Given the description of an element on the screen output the (x, y) to click on. 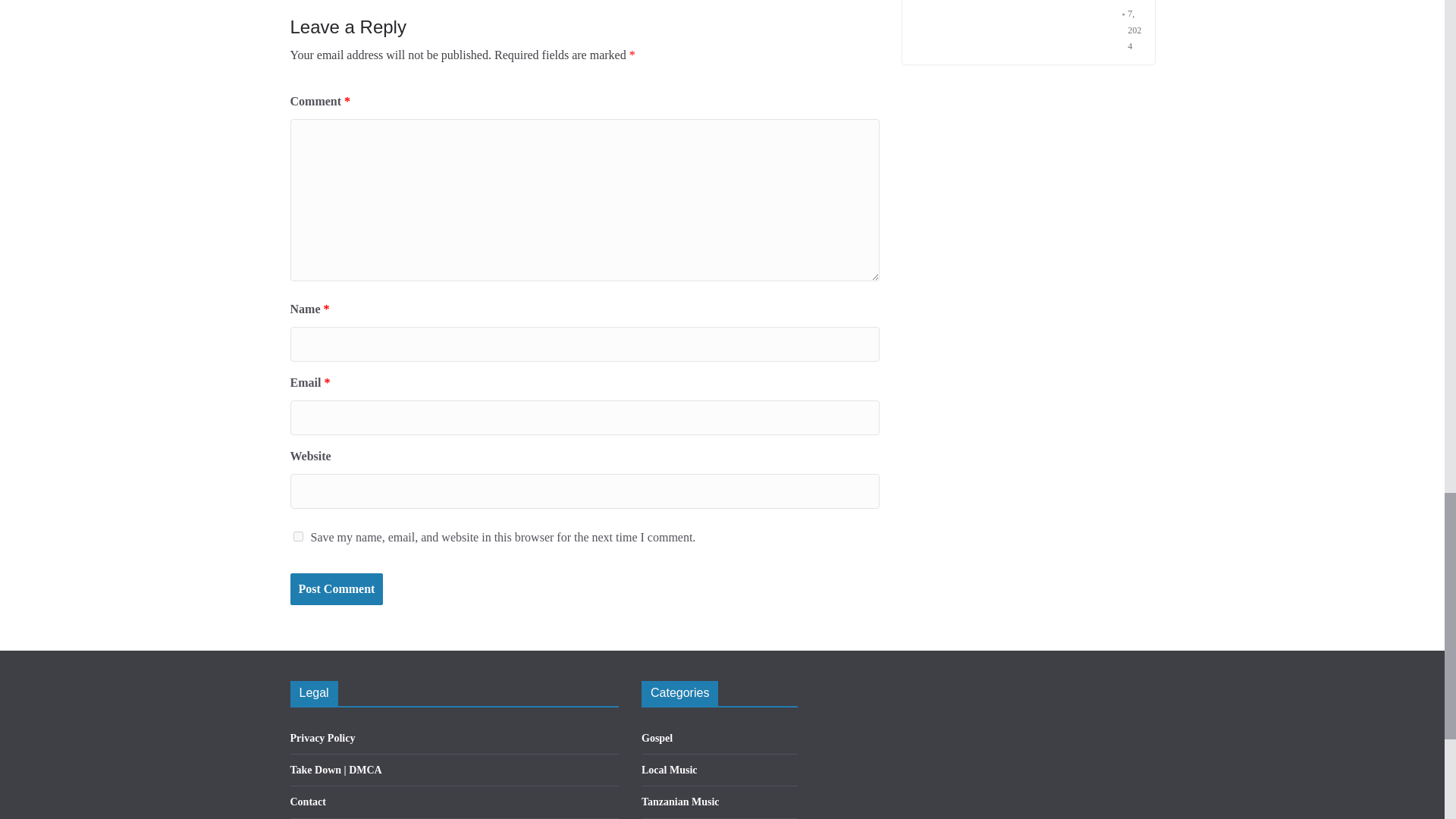
Post Comment (335, 589)
yes (297, 536)
